Given the description of an element on the screen output the (x, y) to click on. 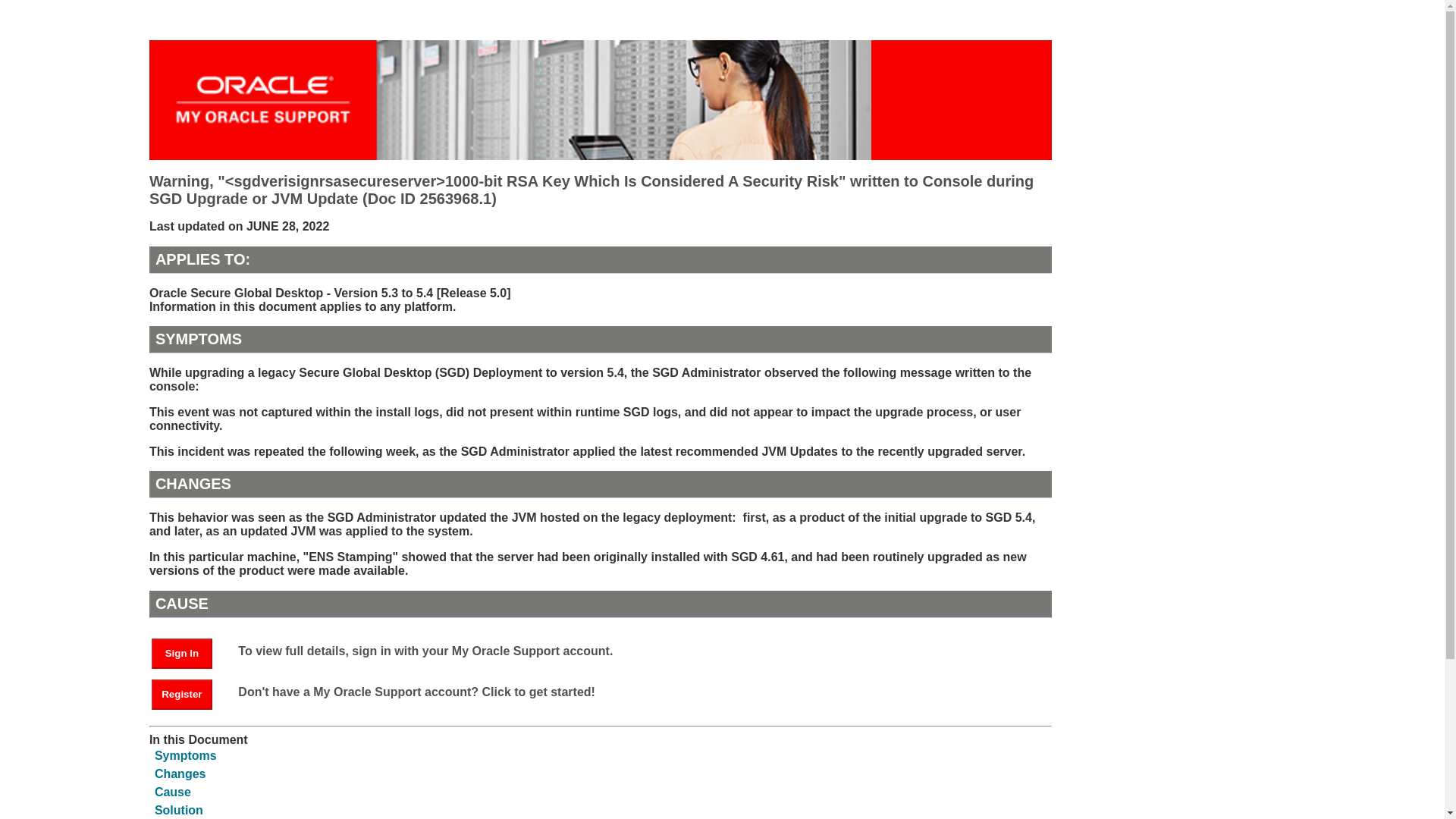
Changes (180, 773)
Register (189, 693)
Sign In (189, 652)
Cause (172, 791)
Sign In (181, 653)
Solution (178, 809)
Register (181, 694)
Symptoms (185, 755)
